Given the description of an element on the screen output the (x, y) to click on. 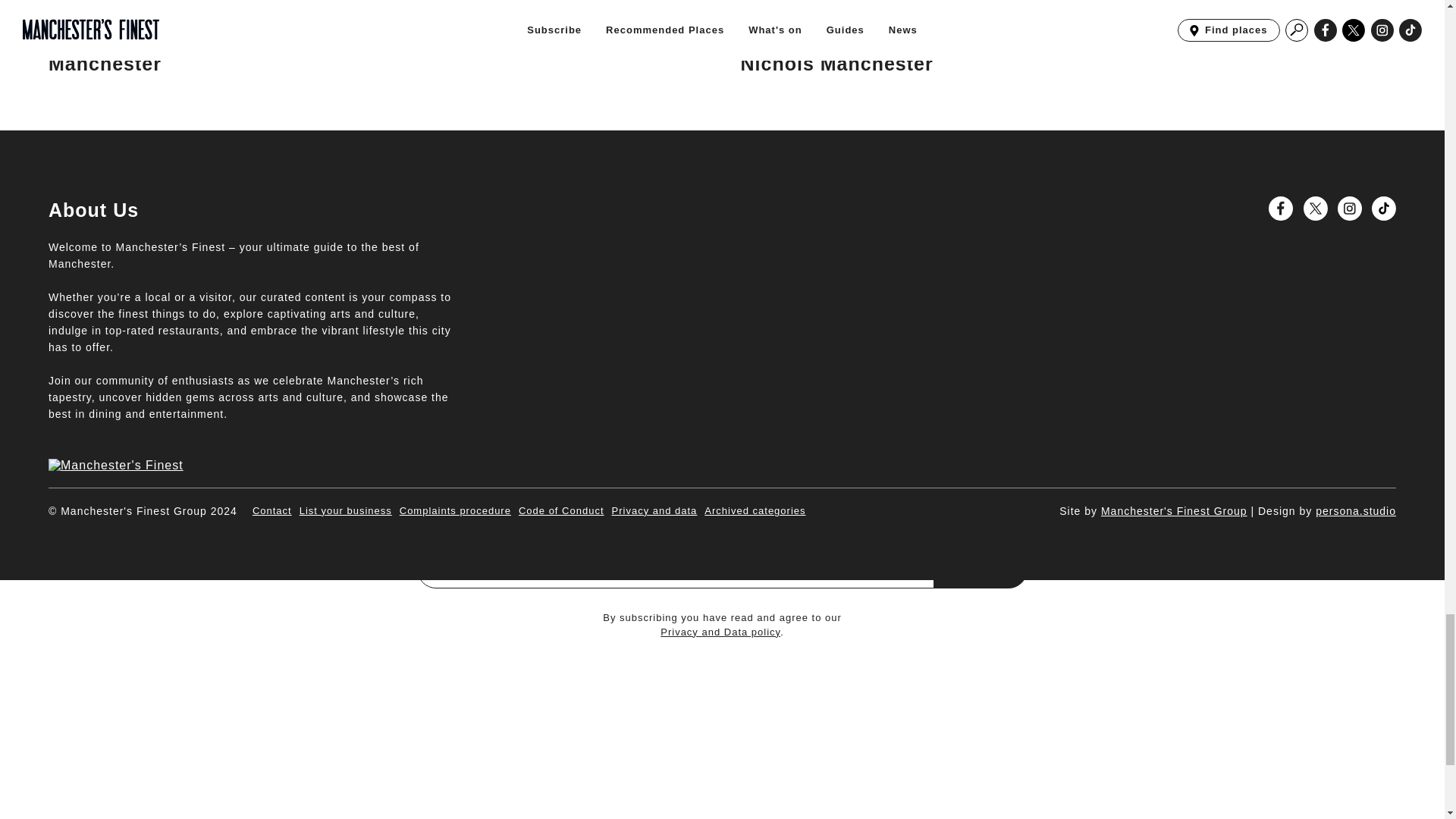
Go to Manchester's Finest X profile (1315, 208)
Go to Manchester's Finest TikTok profile (1383, 208)
Go to Manchester's Finest Facebook page (1280, 208)
Go to Manchester's Finest Instagram profile (1349, 208)
